Given the description of an element on the screen output the (x, y) to click on. 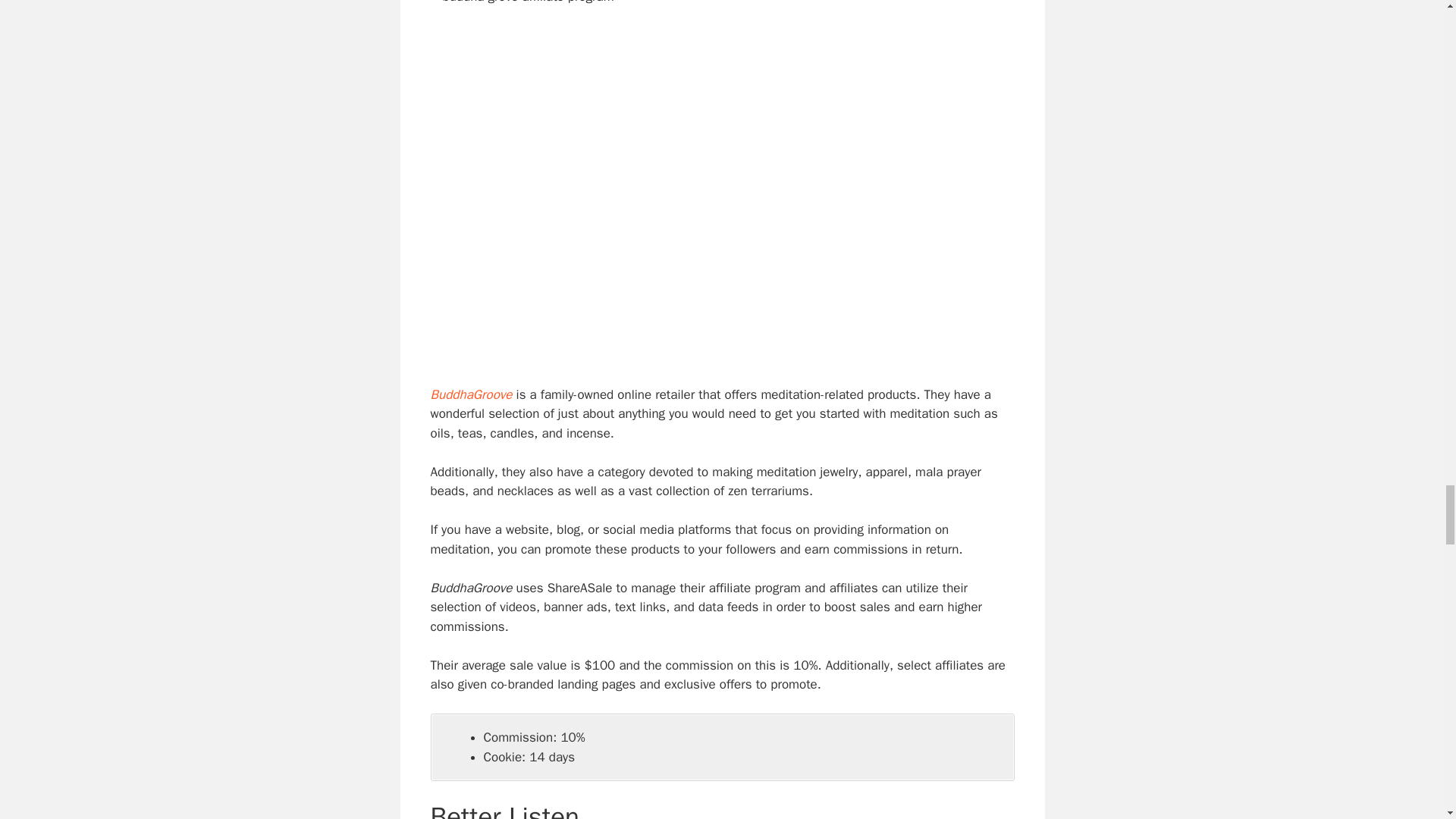
BuddhaGroove (471, 394)
